Given the description of an element on the screen output the (x, y) to click on. 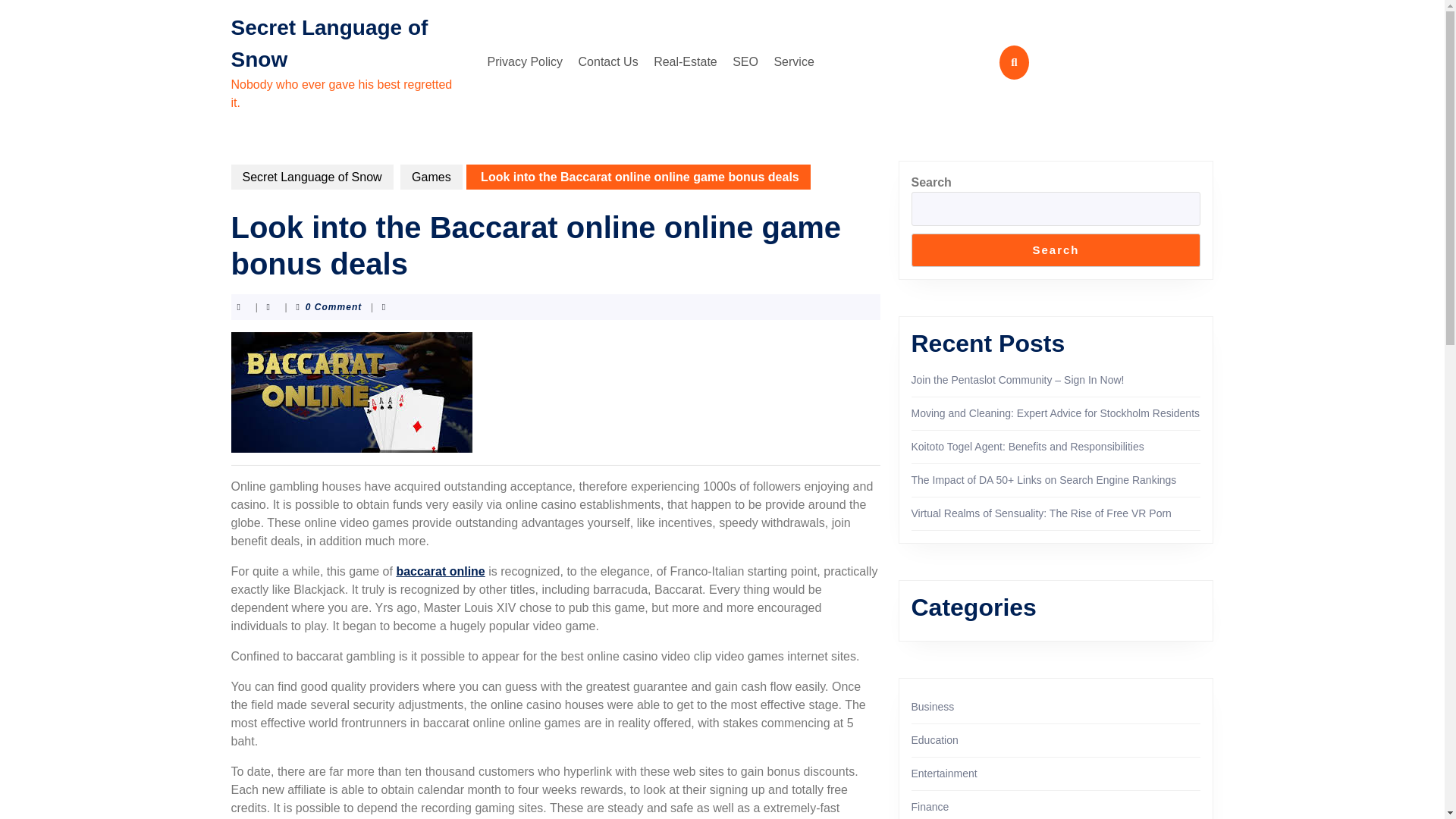
Finance (930, 806)
Secret Language of Snow (329, 43)
Secret Language of Snow (311, 176)
Virtual Realms of Sensuality: The Rise of Free VR Porn (1041, 512)
Education (934, 739)
Service (793, 61)
baccarat online (440, 571)
Business (933, 706)
Entertainment (943, 773)
Contact Us (608, 61)
Privacy Policy (524, 61)
Games (431, 176)
Search (1056, 250)
SEO (745, 61)
Moving and Cleaning: Expert Advice for Stockholm Residents (1055, 413)
